Given the description of an element on the screen output the (x, y) to click on. 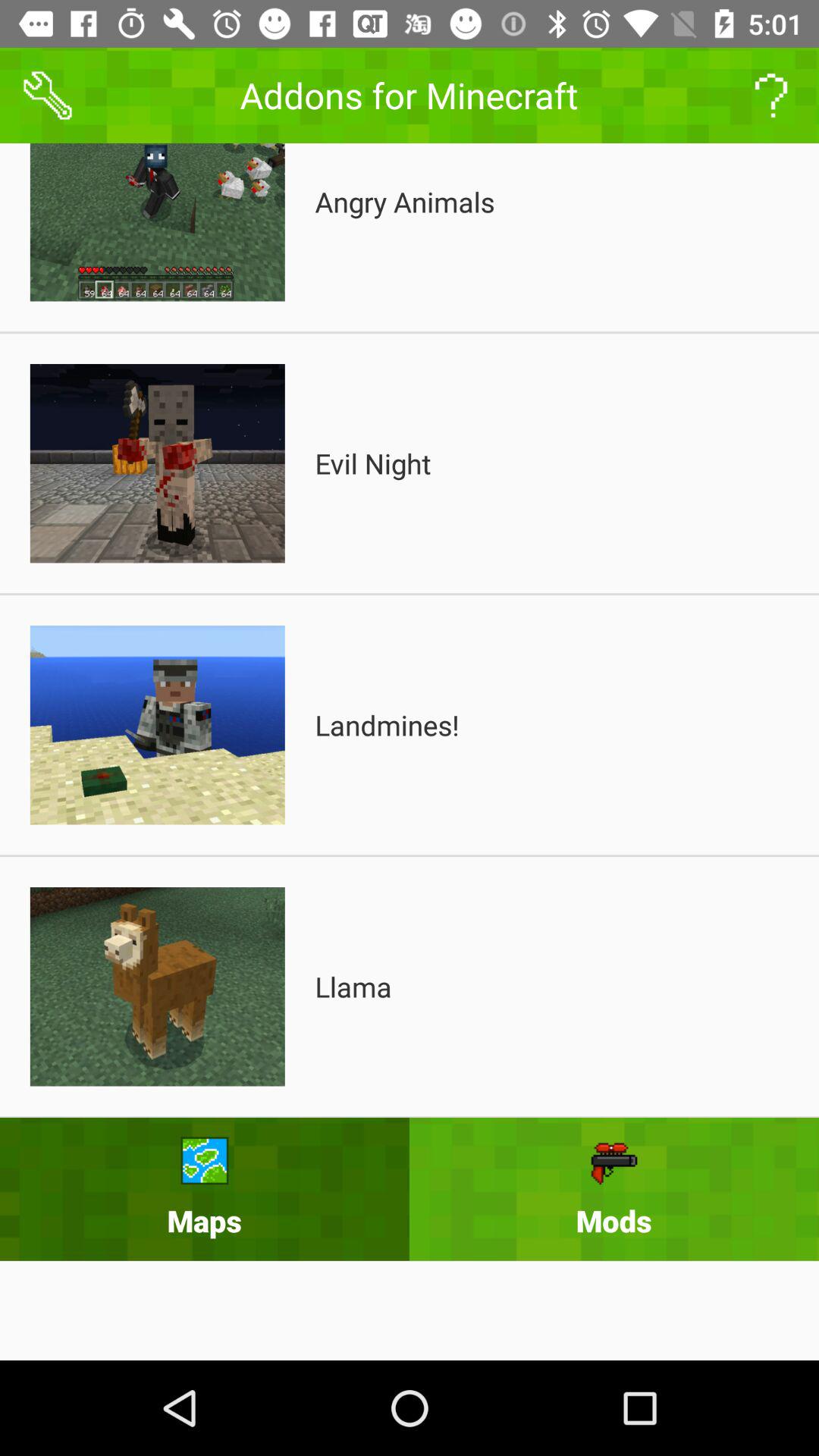
turn off the item next to the addons for minecraft (47, 95)
